Given the description of an element on the screen output the (x, y) to click on. 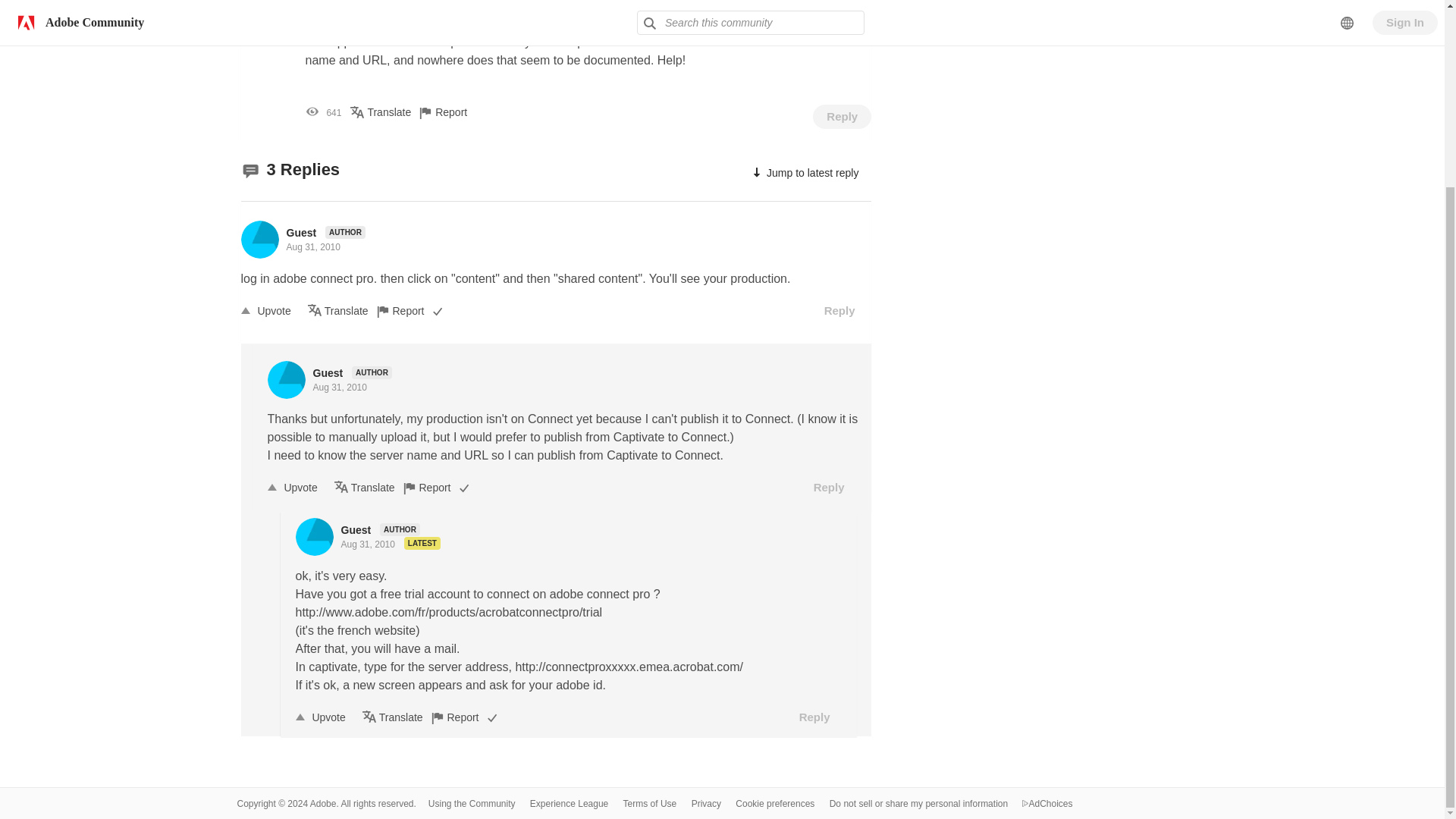
Report (410, 309)
Jump to latest reply (804, 173)
Guest (303, 232)
Reply (841, 116)
Reply (839, 310)
Report (454, 111)
